Given the description of an element on the screen output the (x, y) to click on. 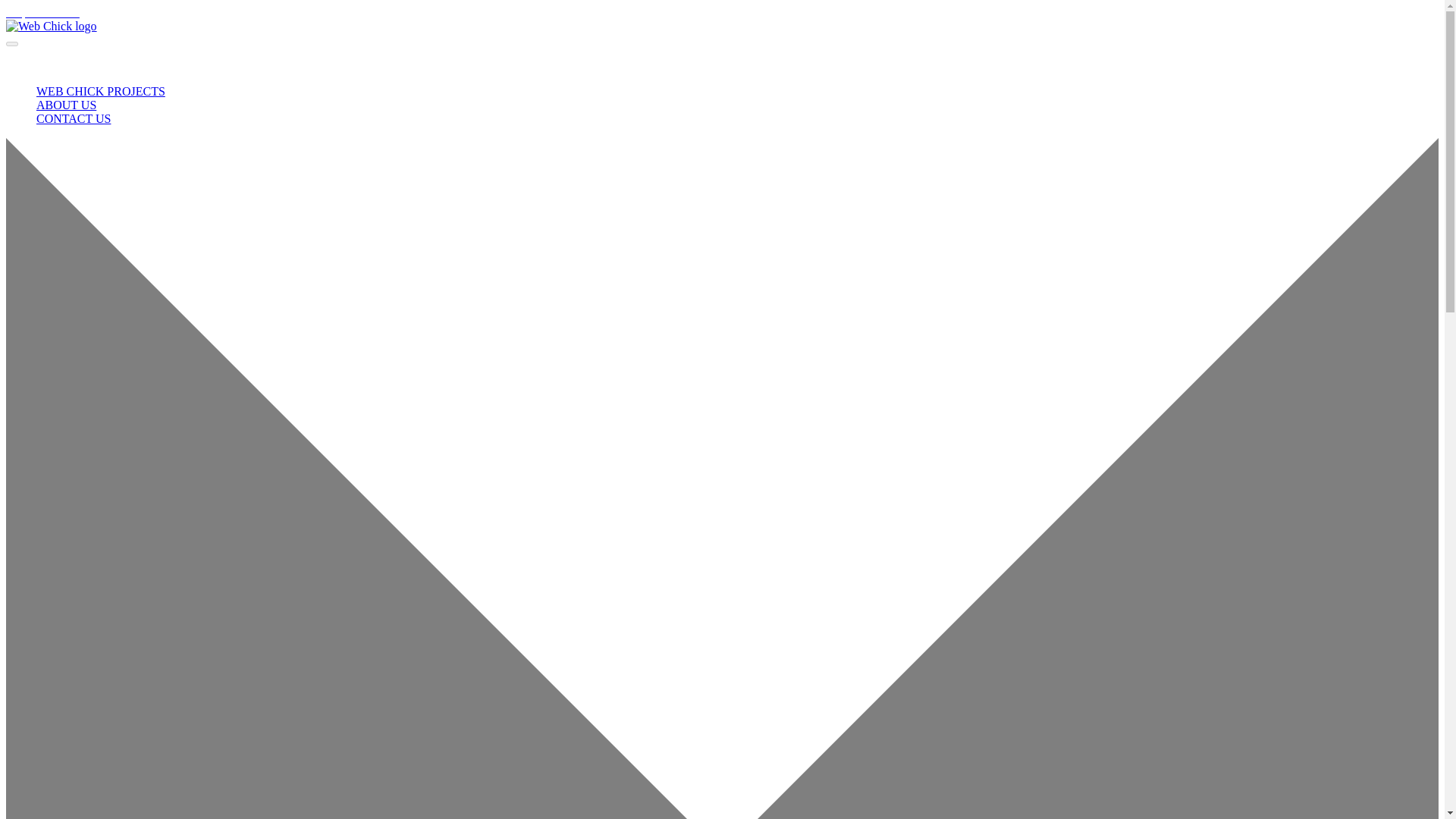
ABOUT US (66, 104)
web chick (51, 25)
CONTACT US (73, 118)
Skip to content (42, 11)
Menu (11, 43)
WEB CHICK PROJECTS (100, 91)
